Given the description of an element on the screen output the (x, y) to click on. 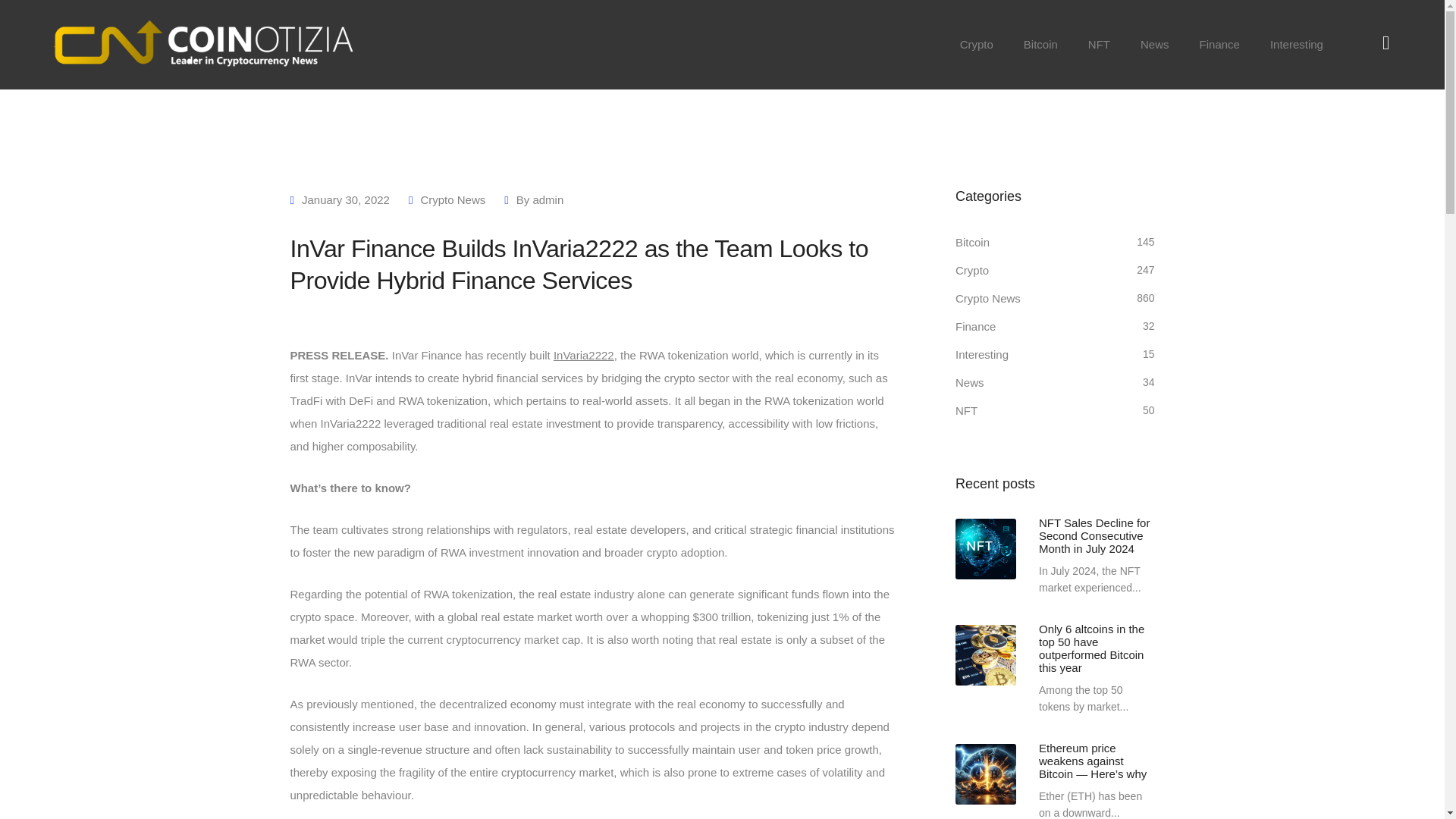
Interesting (982, 354)
InVaria2222 (583, 354)
Finance (1220, 44)
NFT (965, 411)
admin (547, 199)
News (969, 382)
Interesting (1296, 44)
Crypto News (987, 298)
Crypto (971, 270)
NFT (1099, 44)
